Given the description of an element on the screen output the (x, y) to click on. 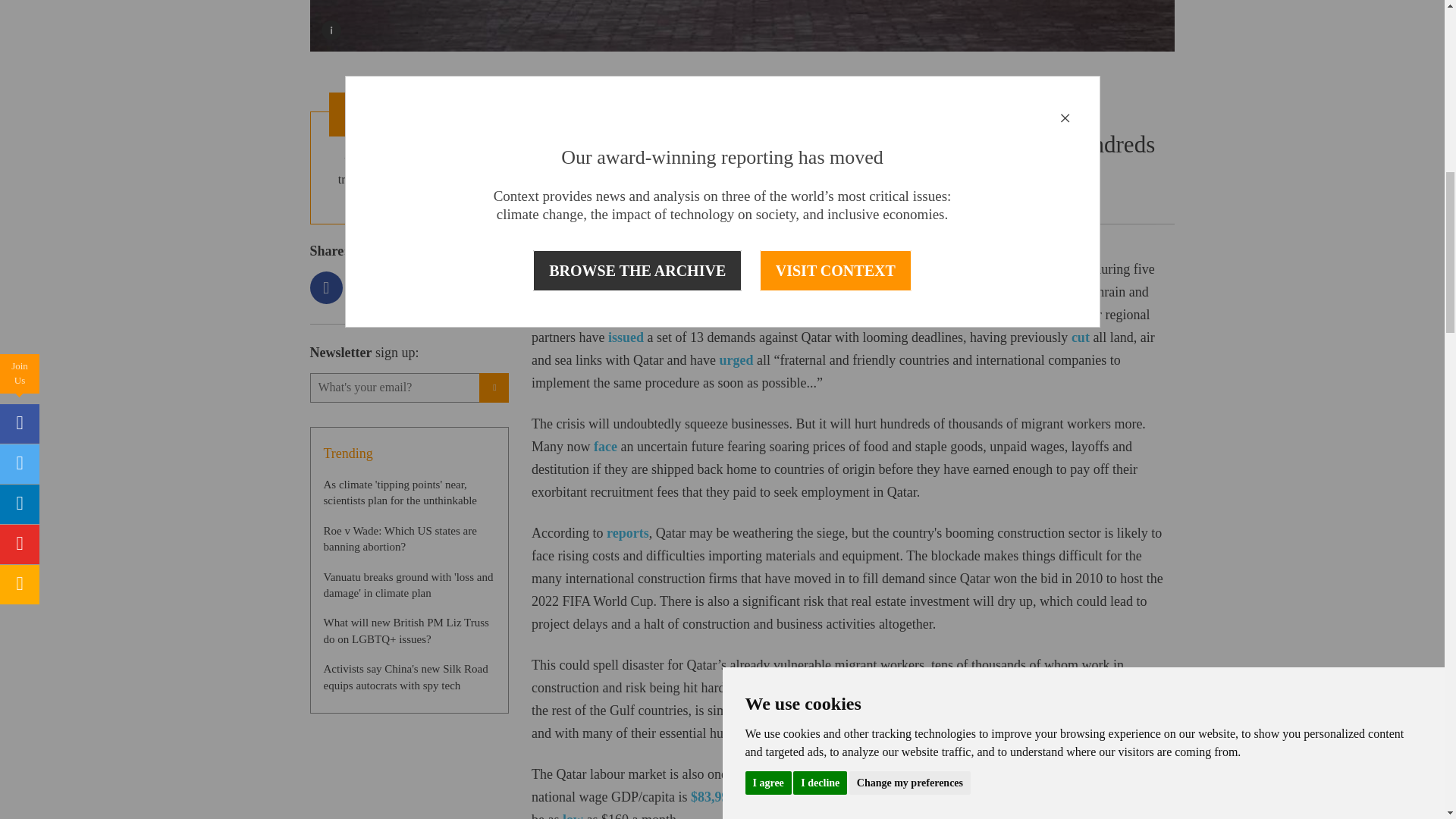
ABOUT OUR SLAVERY COVERAGE (408, 114)
Vanuatu breaks ground with 'loss and damage' in climate plan (408, 584)
Roe v Wade: Which US states are banning abortion? (399, 538)
